Given the description of an element on the screen output the (x, y) to click on. 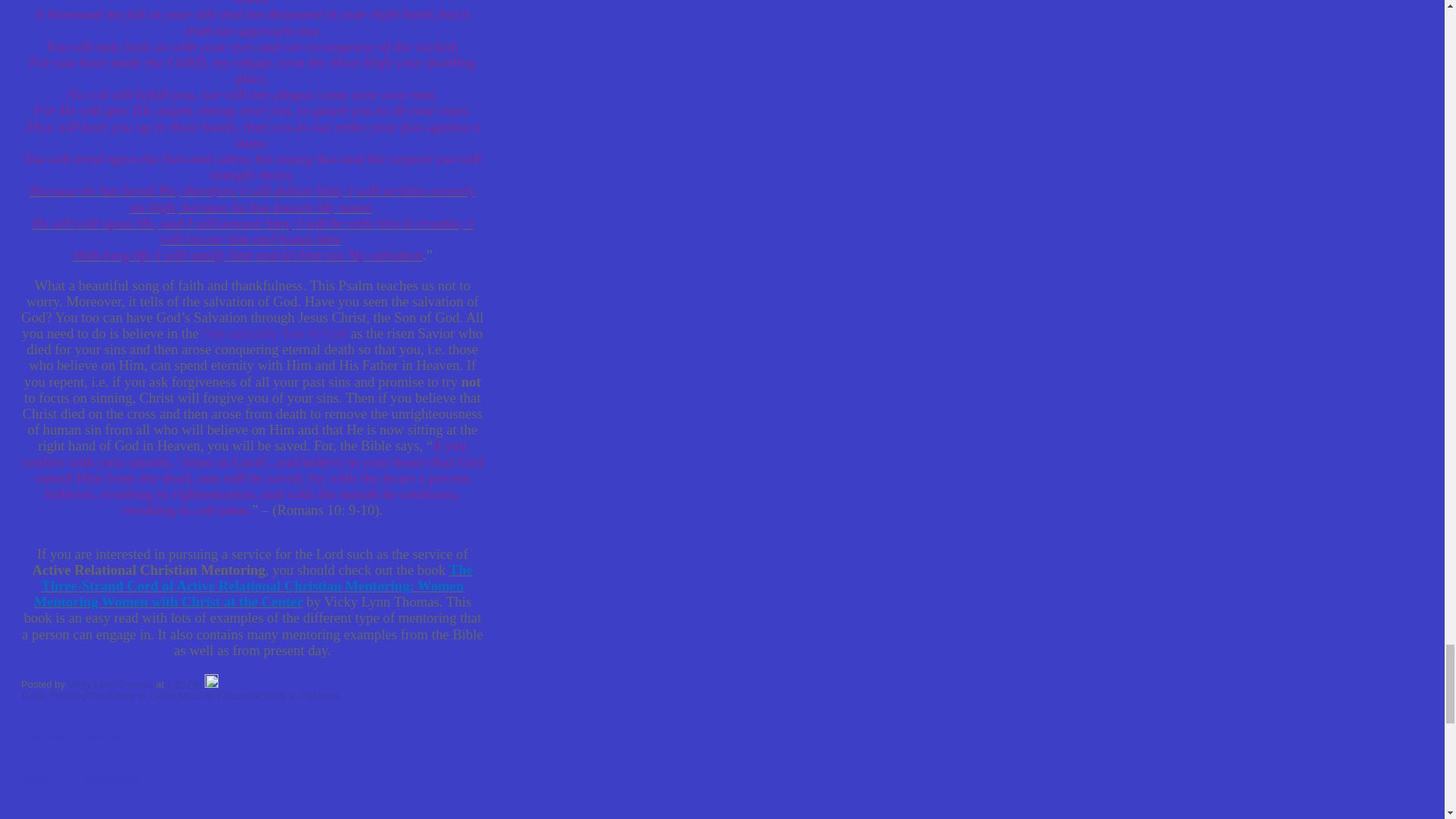
Email This (43, 695)
Edit Post (211, 684)
permanent link (184, 684)
Share to Twitter (142, 695)
BlogThis! (86, 695)
Share to Twitter (142, 695)
author profile (110, 684)
Share to Facebook (218, 695)
Share to Facebook (218, 695)
Vicky Lynn Thomas (110, 684)
Share to Pinterest (299, 695)
BlogThis! (86, 695)
Email This (43, 695)
Share to Pinterest (299, 695)
